Given the description of an element on the screen output the (x, y) to click on. 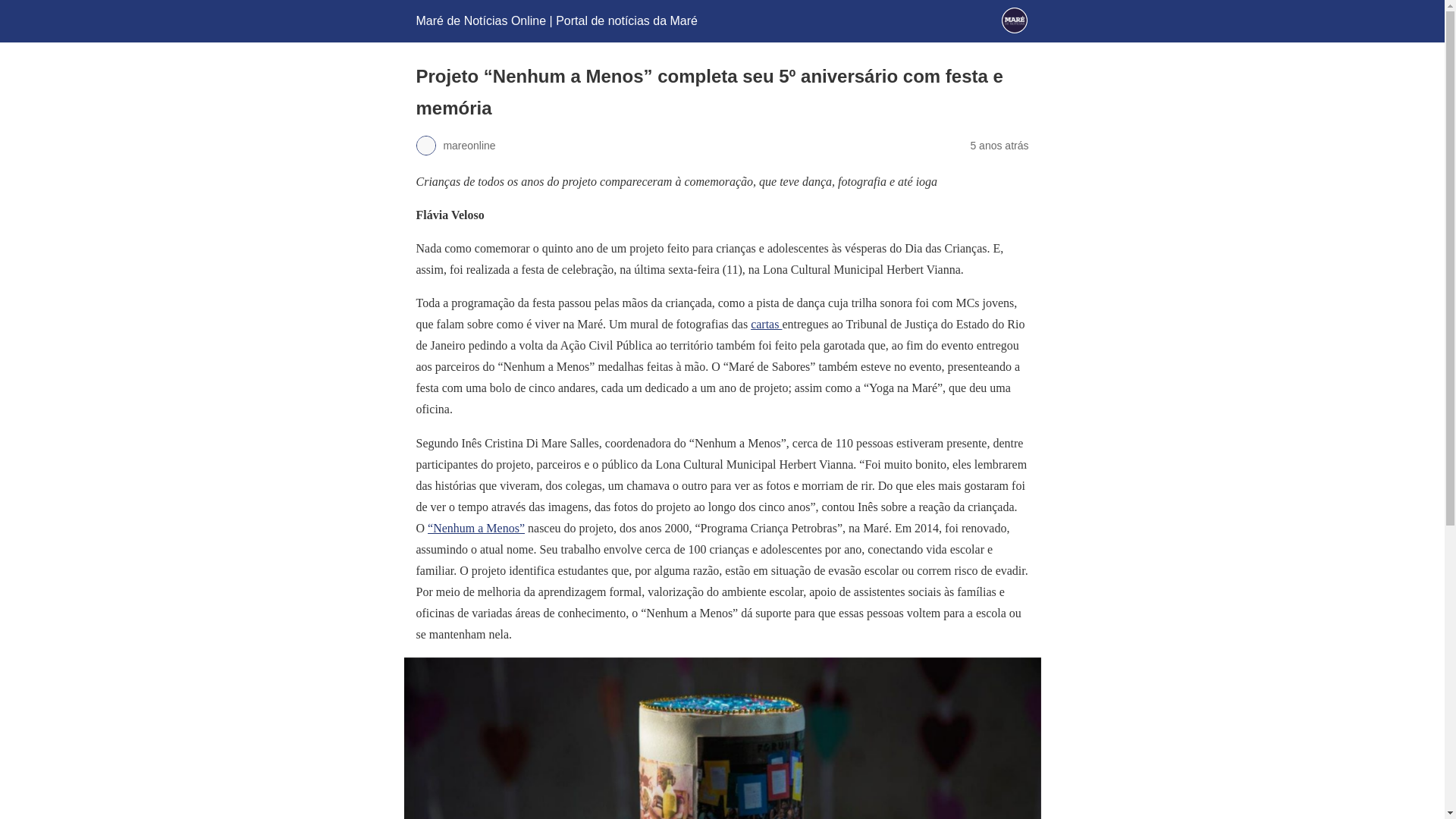
cartas (766, 323)
